Given the description of an element on the screen output the (x, y) to click on. 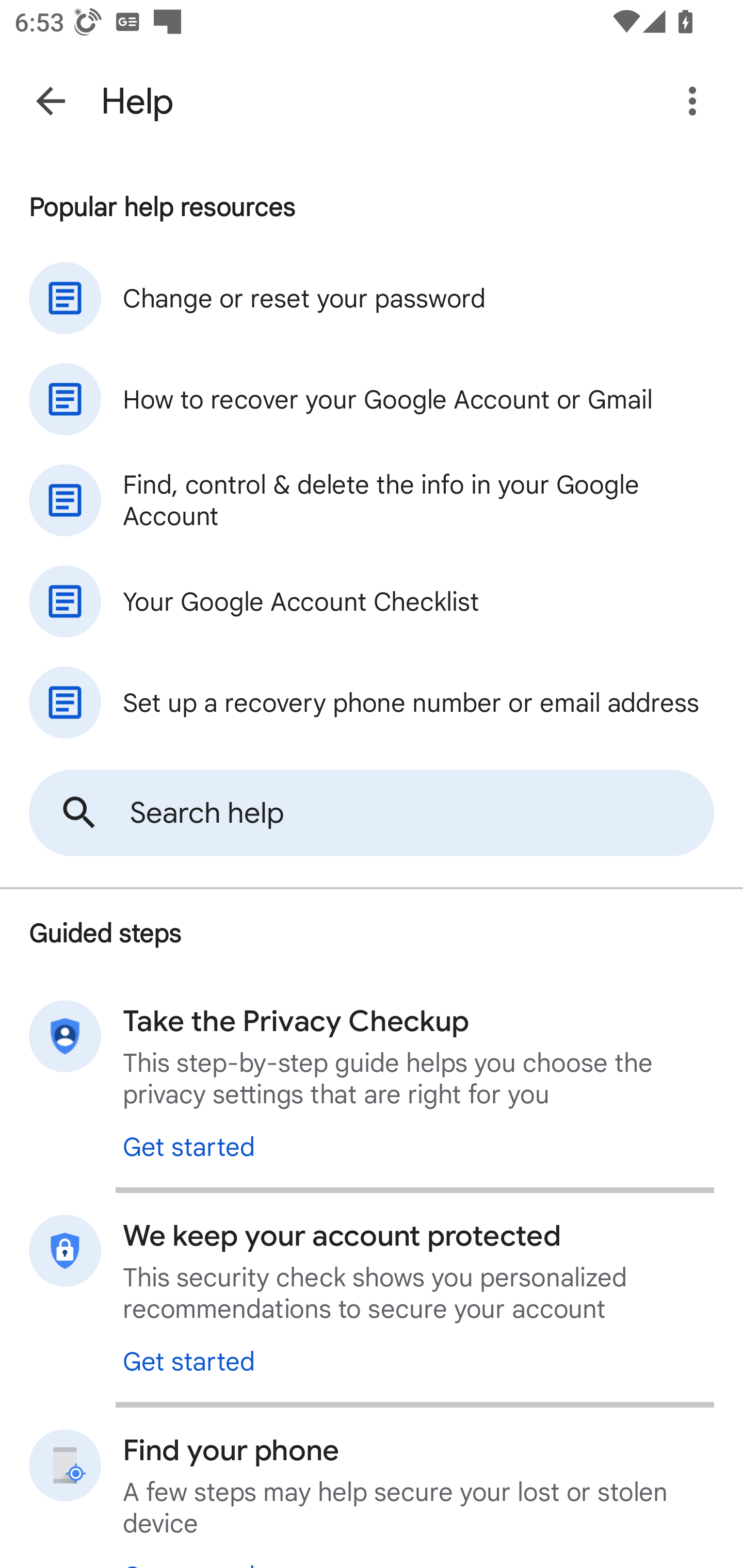
Navigate up (50, 101)
More options (696, 101)
Change or reset your password (371, 297)
How to recover your Google Account or Gmail (371, 399)
Your Google Account Checklist (371, 601)
Set up a recovery phone number or email address (371, 702)
Search help (371, 812)
